Given the description of an element on the screen output the (x, y) to click on. 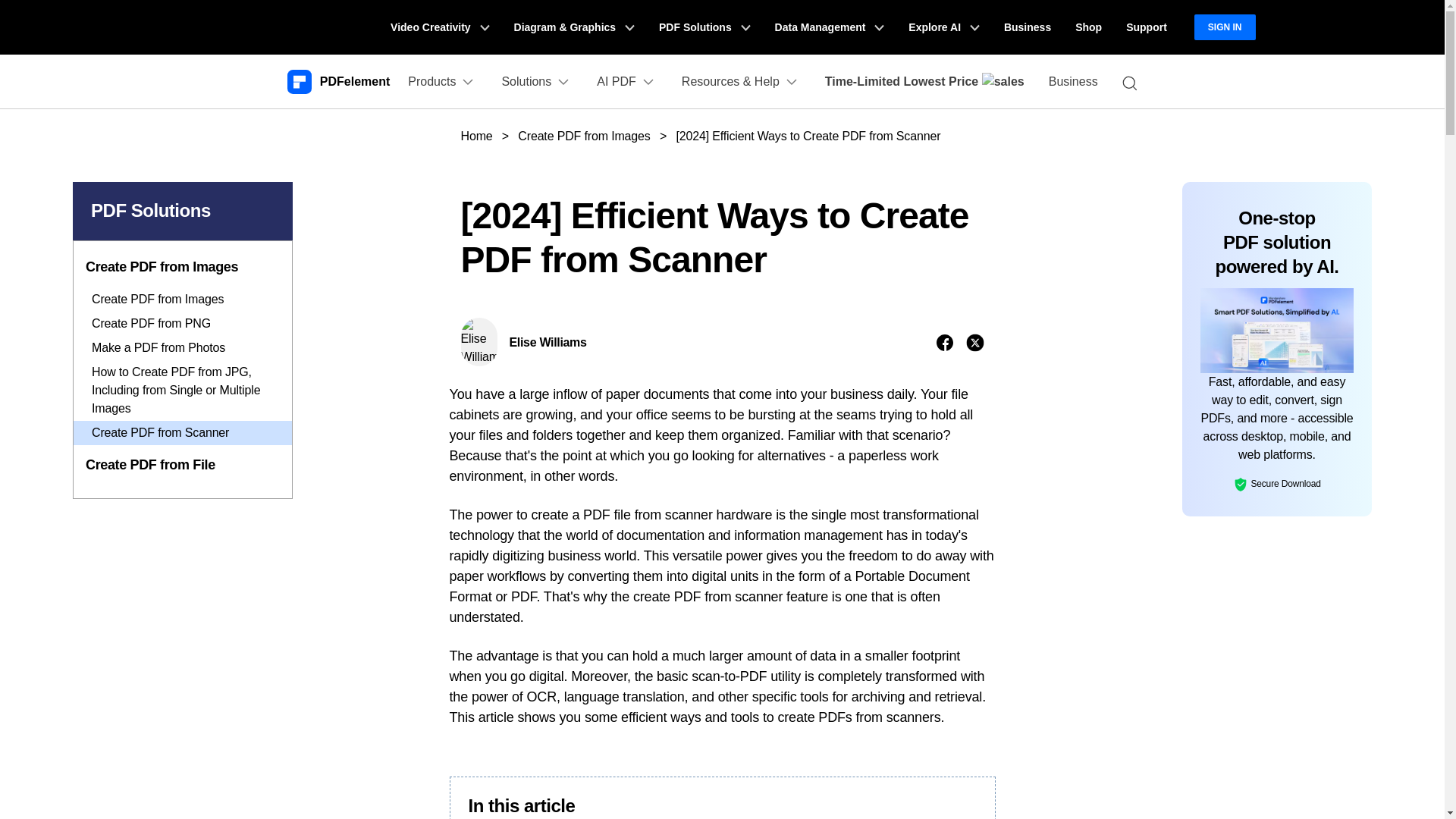
Data Management (829, 27)
PDF Solutions (704, 27)
Explore AI (943, 27)
Video Creativity (439, 27)
